Given the description of an element on the screen output the (x, y) to click on. 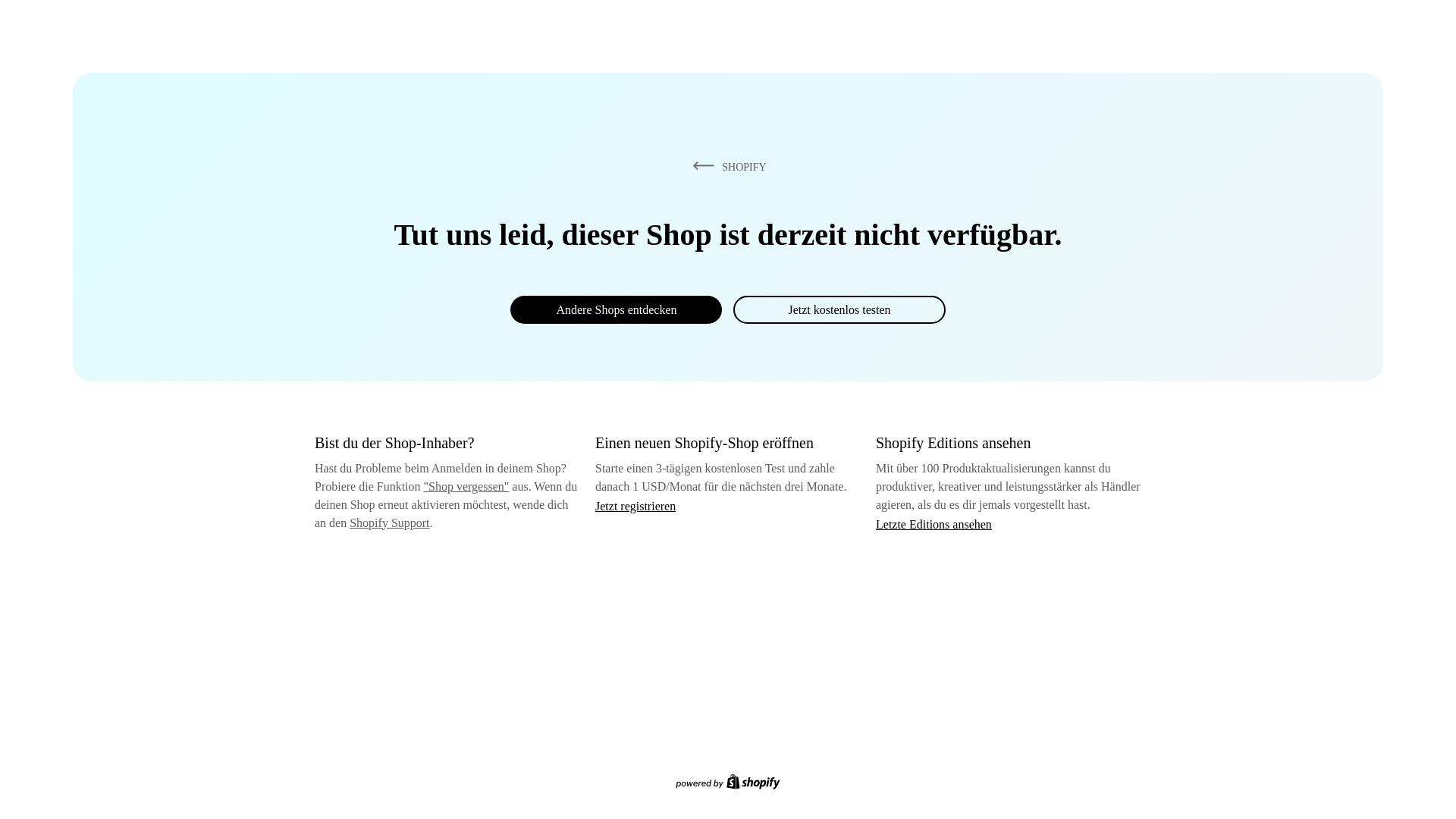
Jetzt kostenlos testen (838, 309)
Shopify Support (389, 522)
Andere Shops entdecken (616, 309)
Jetzt registrieren (635, 505)
SHOPIFY (726, 166)
Letzte Editions ansehen (933, 523)
"Shop vergessen" (466, 486)
